Given the description of an element on the screen output the (x, y) to click on. 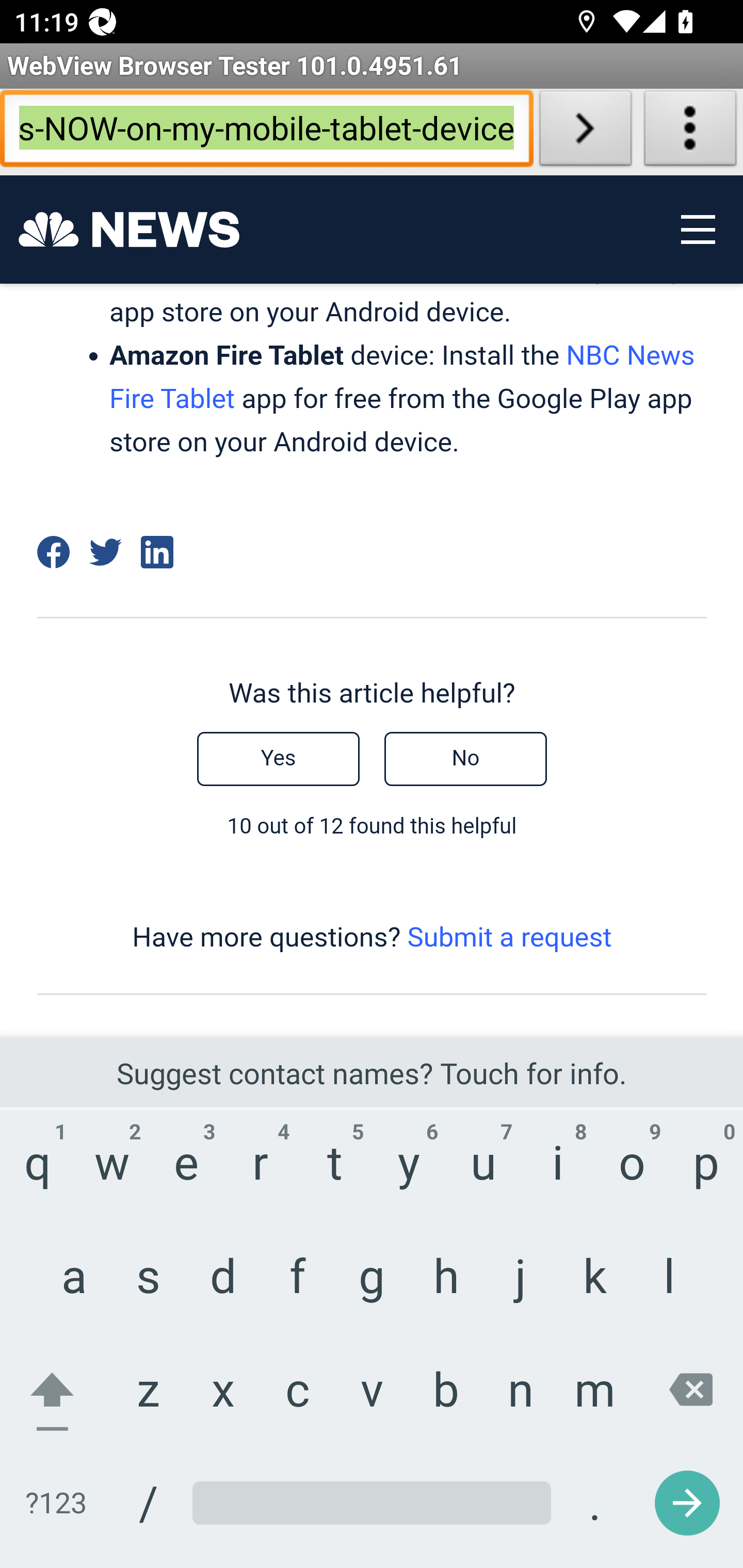
Load URL (585, 132)
About WebView (690, 132)
?icid=nav_bar_logo (128, 230)
NBC News Fire Tablet (401, 377)
Facebook Share this page on Facebook (52, 553)
Twitter Share this page on X Corp (105, 553)
LinkedIn Share this page on LinkedIn (157, 553)
This article was helpful (277, 759)
This article was not helpful (465, 759)
Submit a request (509, 937)
